Given the description of an element on the screen output the (x, y) to click on. 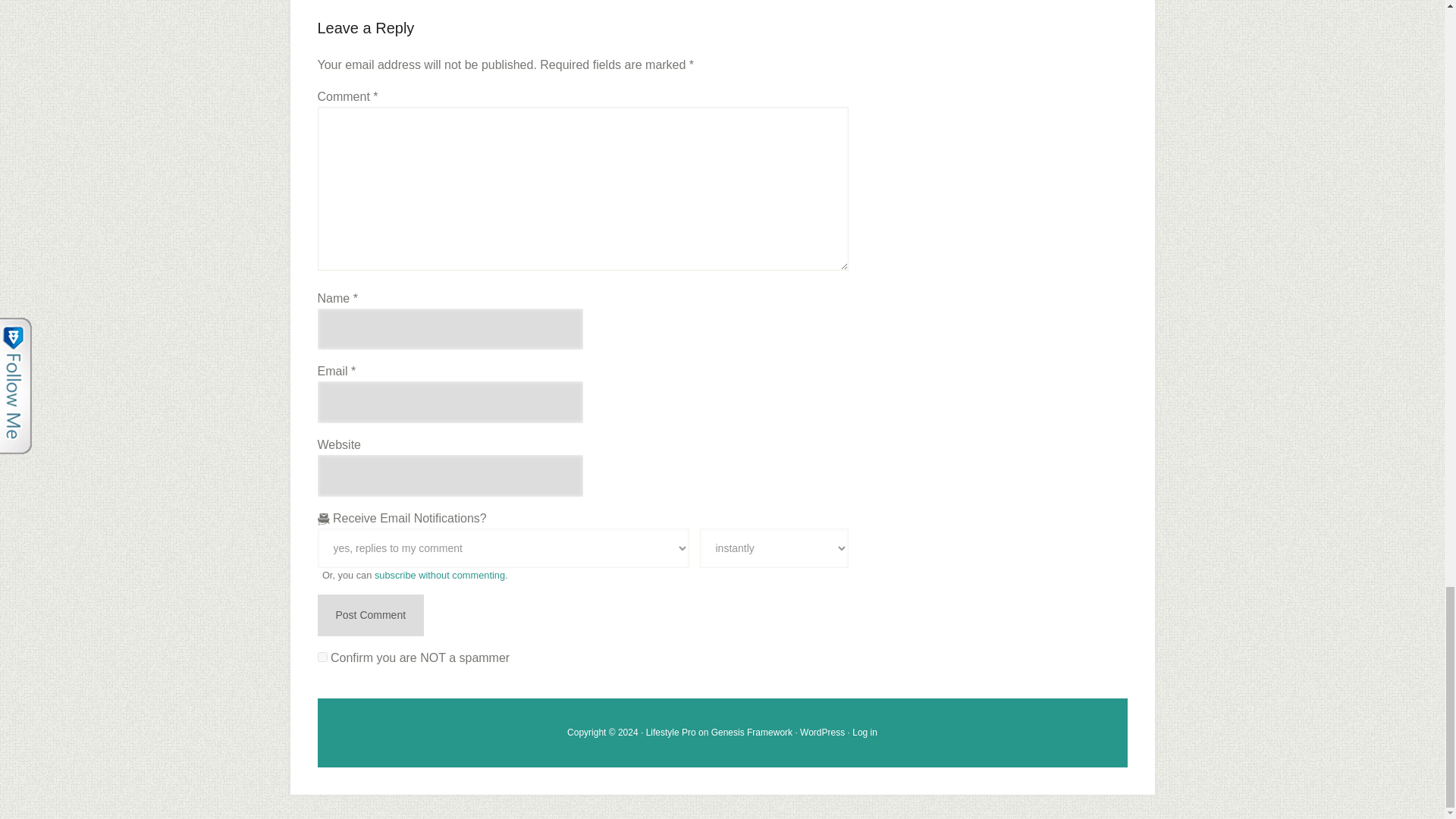
WordPress (821, 732)
Receive Notifications? (502, 548)
Log in (864, 732)
Notify Me (772, 548)
on (321, 656)
subscribe without commenting (439, 574)
Lifestyle Pro (670, 732)
Post Comment (370, 615)
Post Comment (370, 615)
Genesis Framework (751, 732)
